Given the description of an element on the screen output the (x, y) to click on. 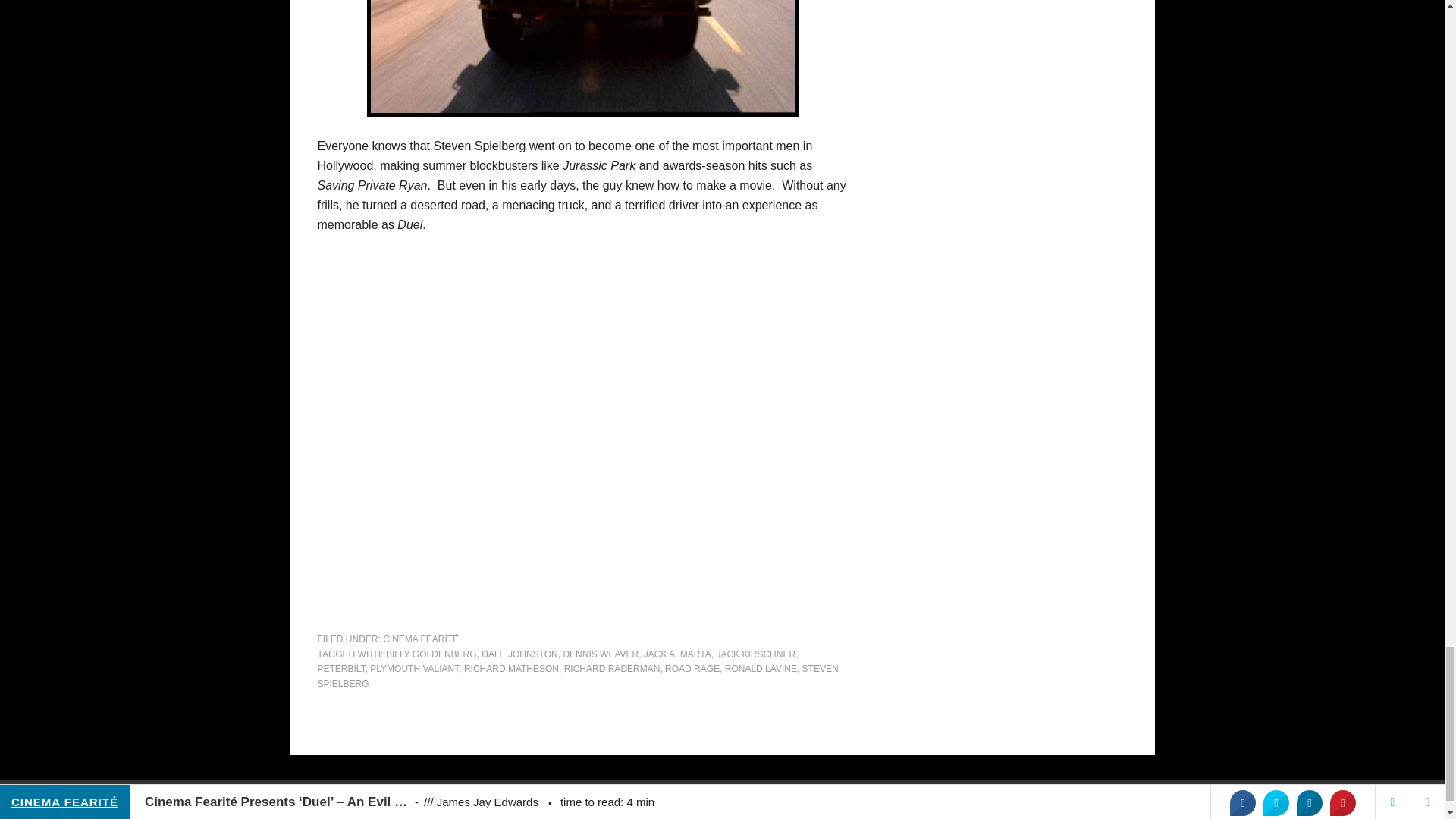
BILLY GOLDENBERG (431, 654)
STEVEN SPIELBERG (577, 676)
JACK KIRSCHNER (755, 654)
PETERBILT (341, 668)
DENNIS WEAVER (600, 654)
RONALD LAVINE (760, 668)
PLYMOUTH VALIANT (413, 668)
JACK A. MARTA (677, 654)
DALE JOHNSTON (519, 654)
Duel (582, 58)
